Given the description of an element on the screen output the (x, y) to click on. 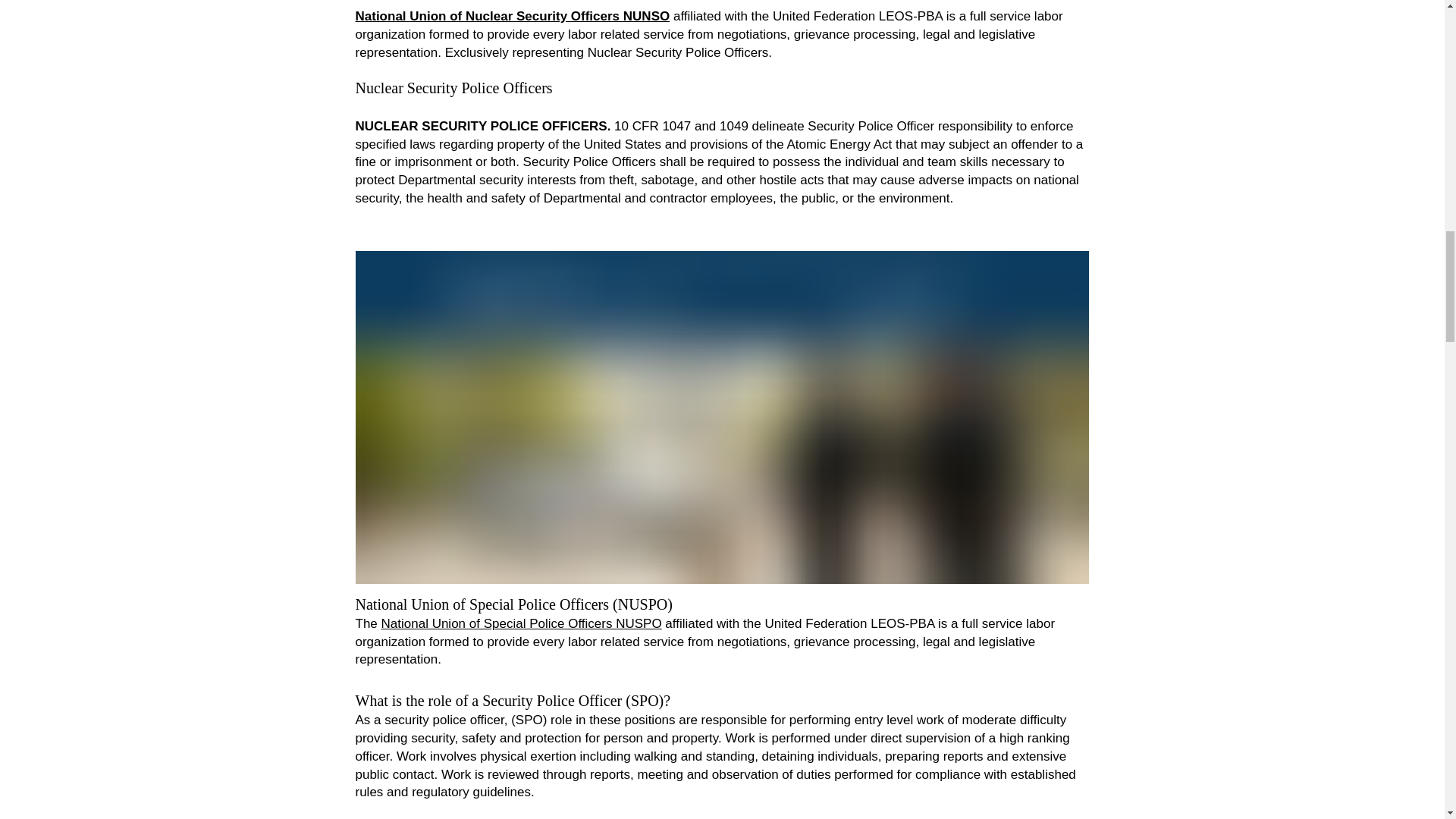
National Union of Special Police Officers NUSPO (521, 623)
National Union of Nuclear Security Officers NUNSO (512, 16)
